Given the description of an element on the screen output the (x, y) to click on. 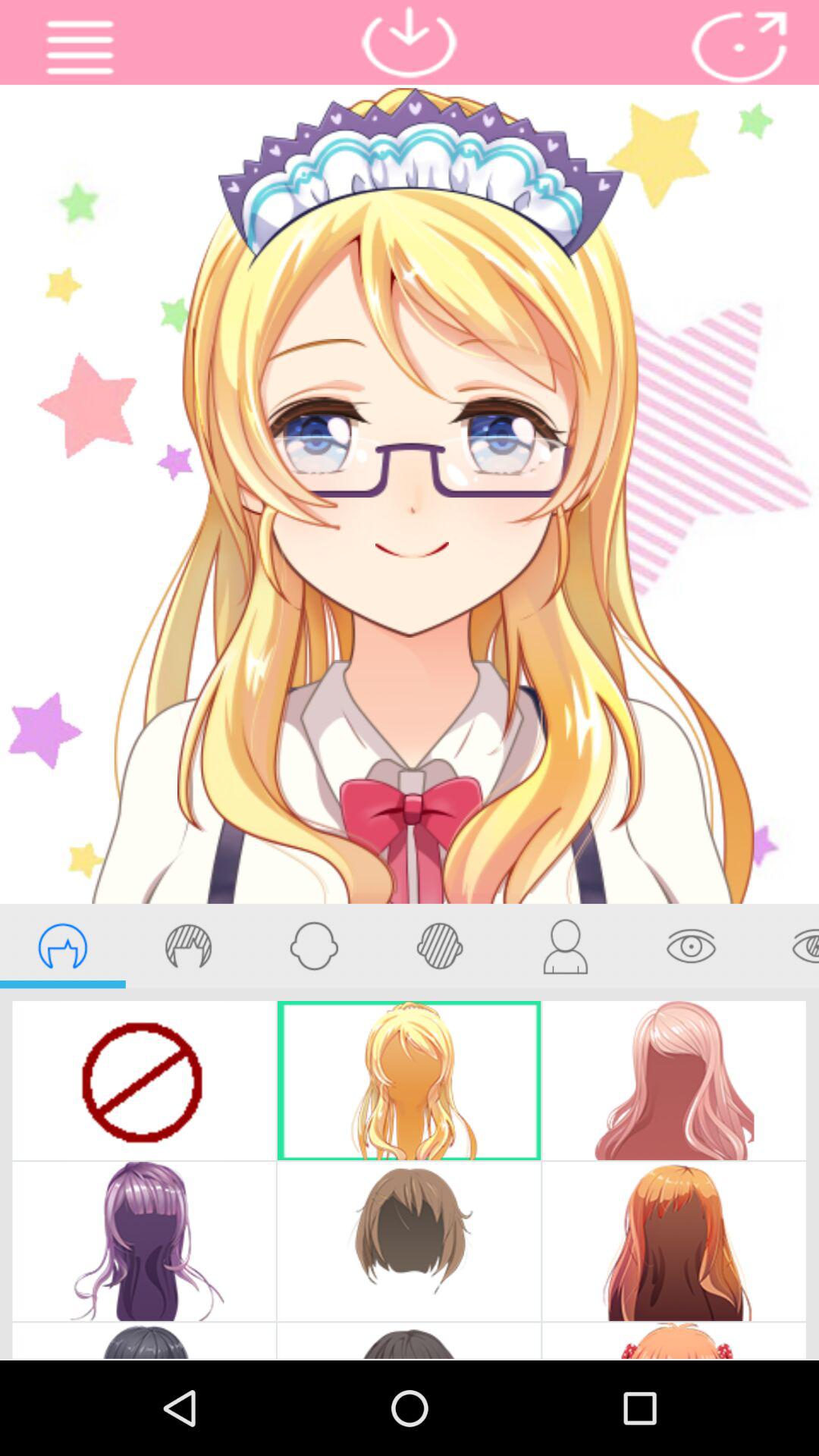
face (314, 945)
